Given the description of an element on the screen output the (x, y) to click on. 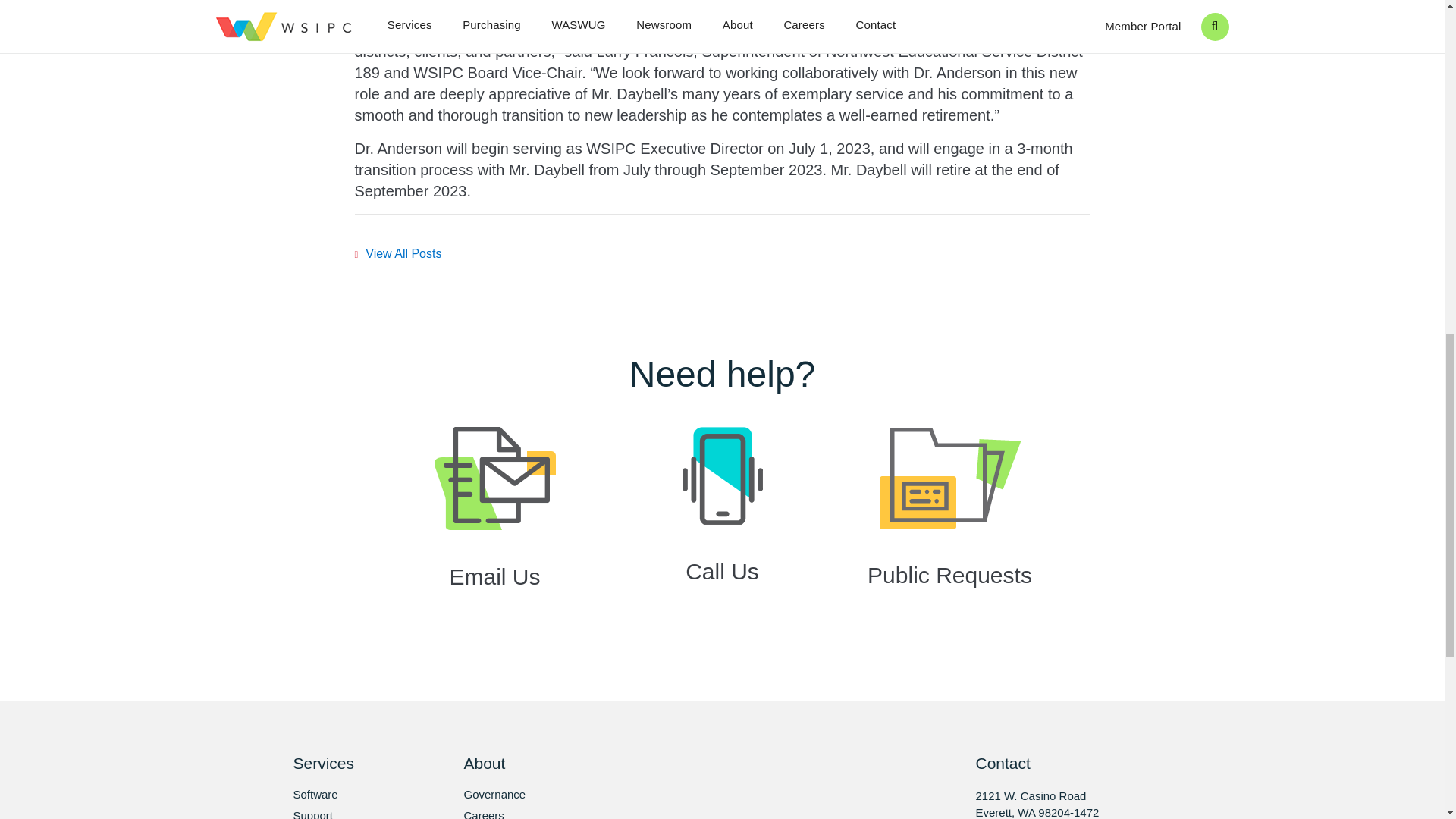
Email Us (494, 523)
Public Requests (949, 522)
Support (352, 814)
Services (352, 763)
Careers (523, 814)
Call Us (722, 520)
View All Posts (398, 253)
Email Us (494, 523)
About (523, 763)
Software (352, 794)
View All Posts (398, 253)
Governance (523, 794)
Public Requests (949, 522)
Call Us (722, 520)
